Given the description of an element on the screen output the (x, y) to click on. 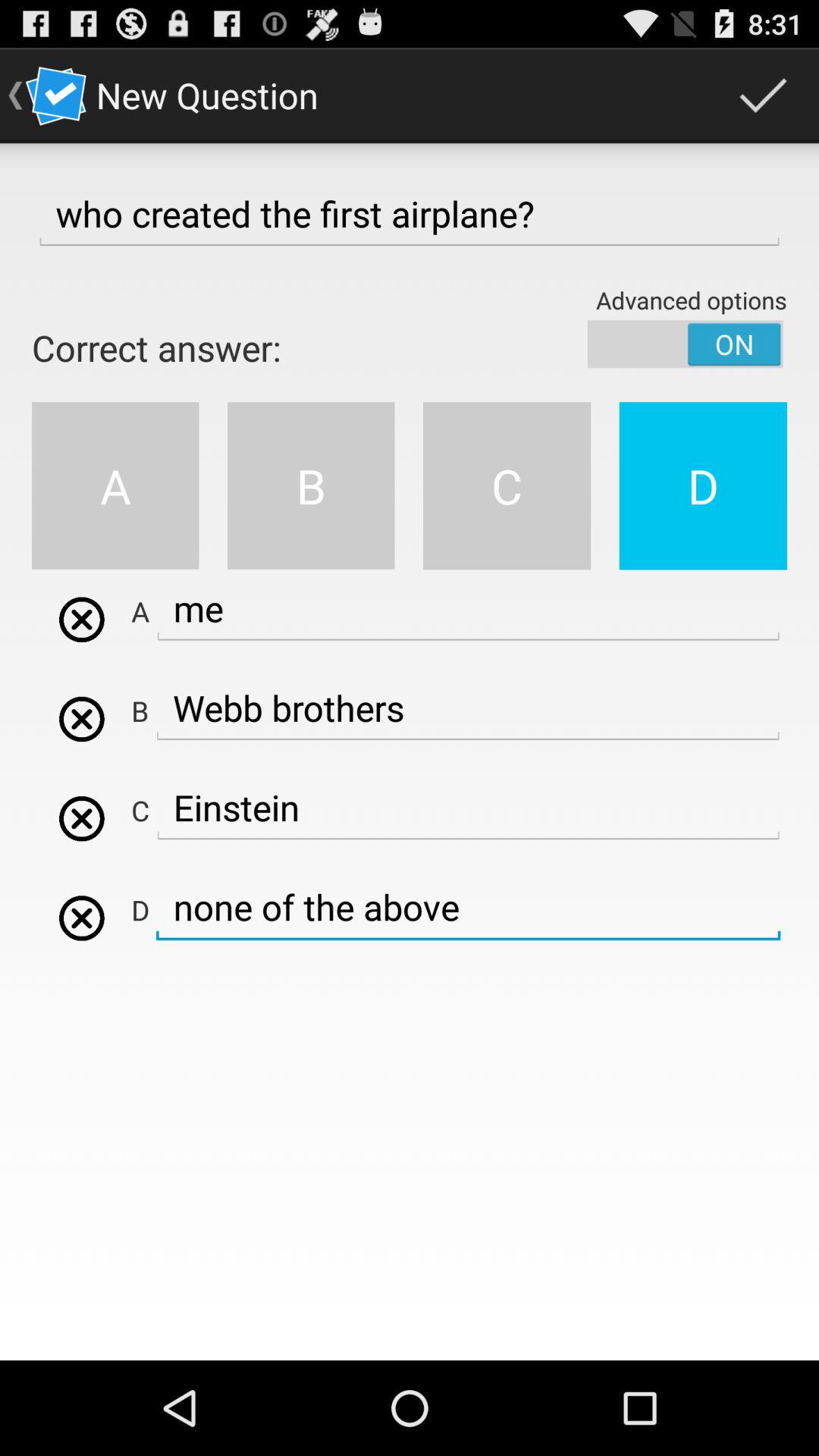
delete (81, 718)
